Given the description of an element on the screen output the (x, y) to click on. 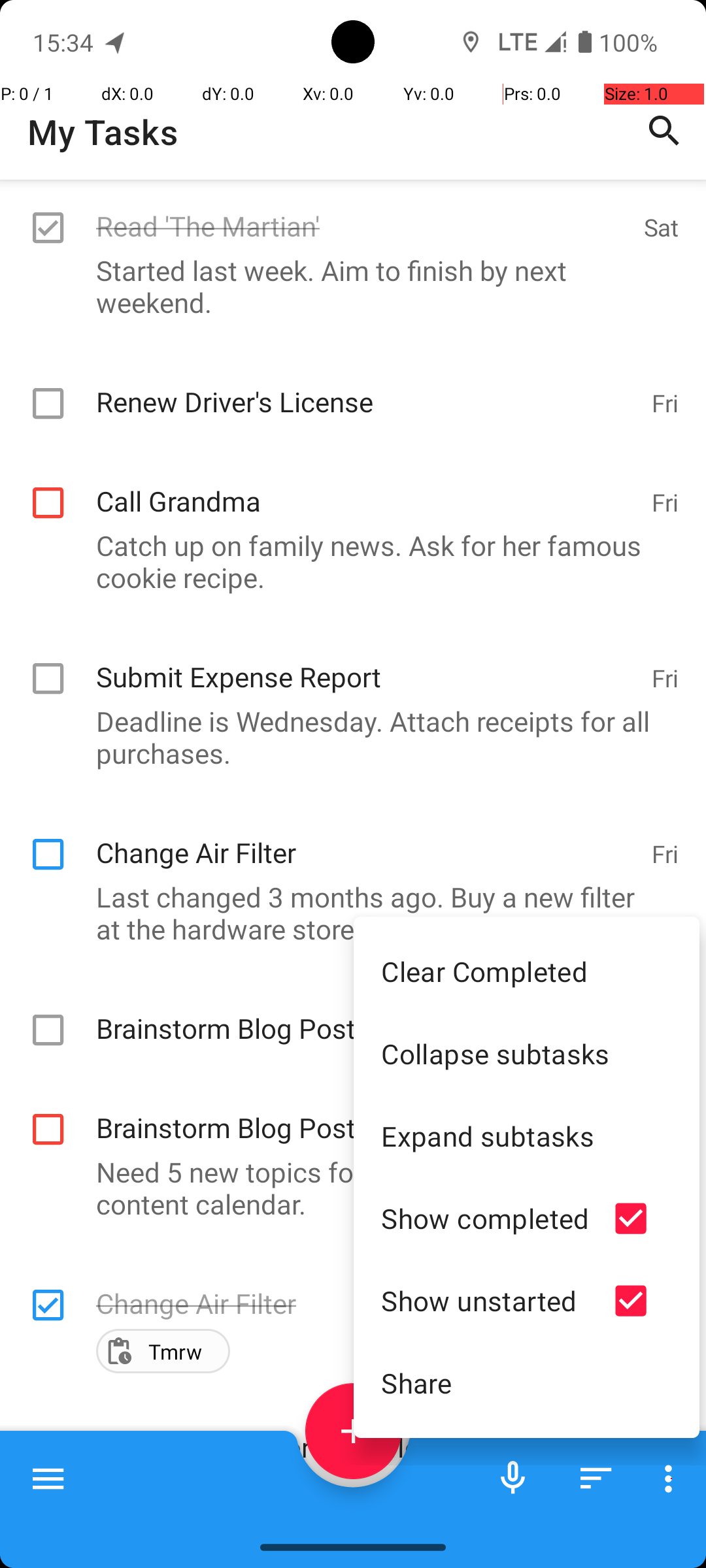
Clear Completed Element type: android.widget.TextView (526, 970)
Collapse subtasks Element type: android.widget.TextView (526, 1053)
Expand subtasks Element type: android.widget.TextView (526, 1135)
Show completed Element type: android.widget.TextView (485, 1217)
Show unstarted Element type: android.widget.TextView (485, 1300)
